Given the description of an element on the screen output the (x, y) to click on. 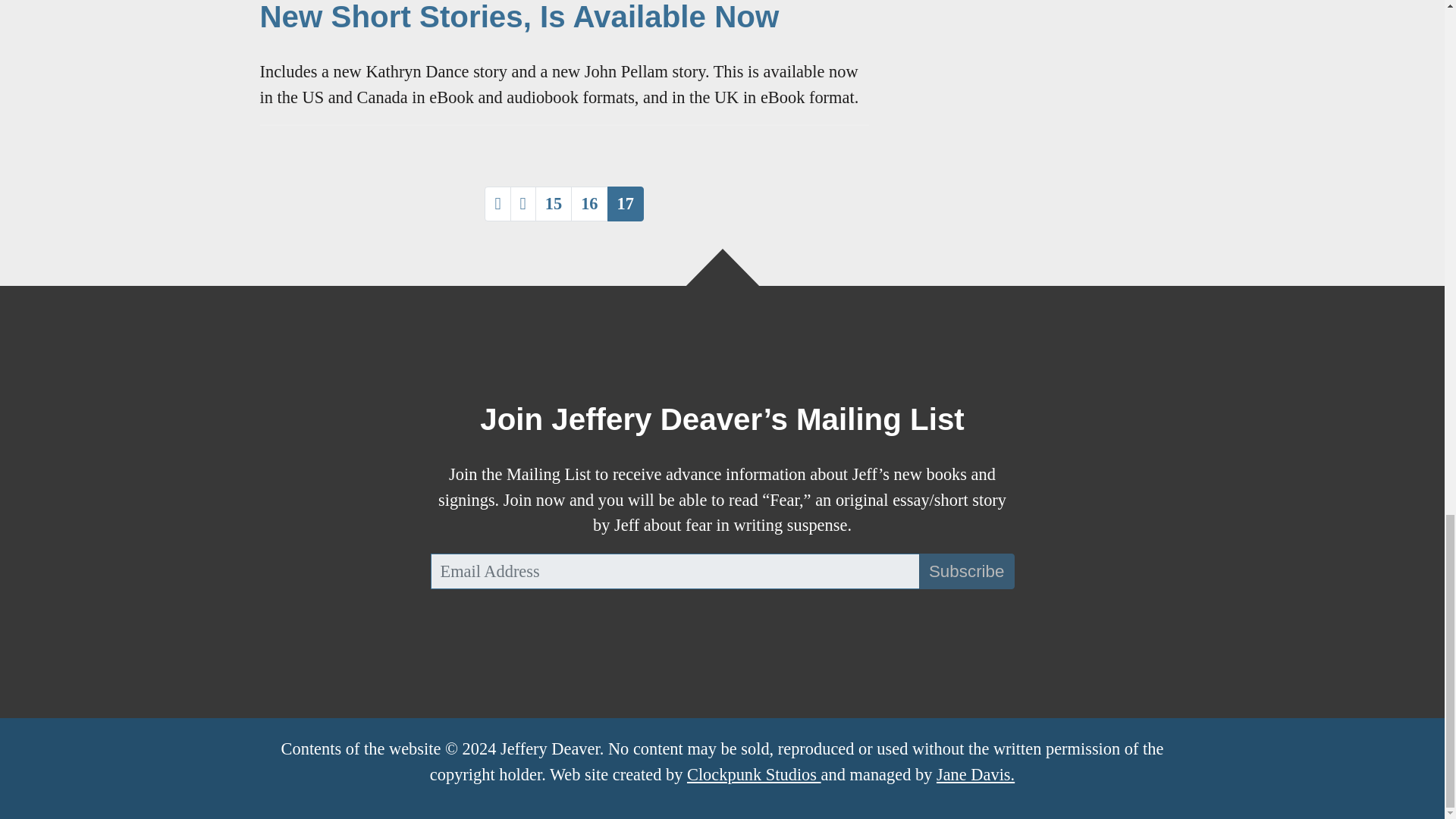
Subscribe (966, 571)
